Given the description of an element on the screen output the (x, y) to click on. 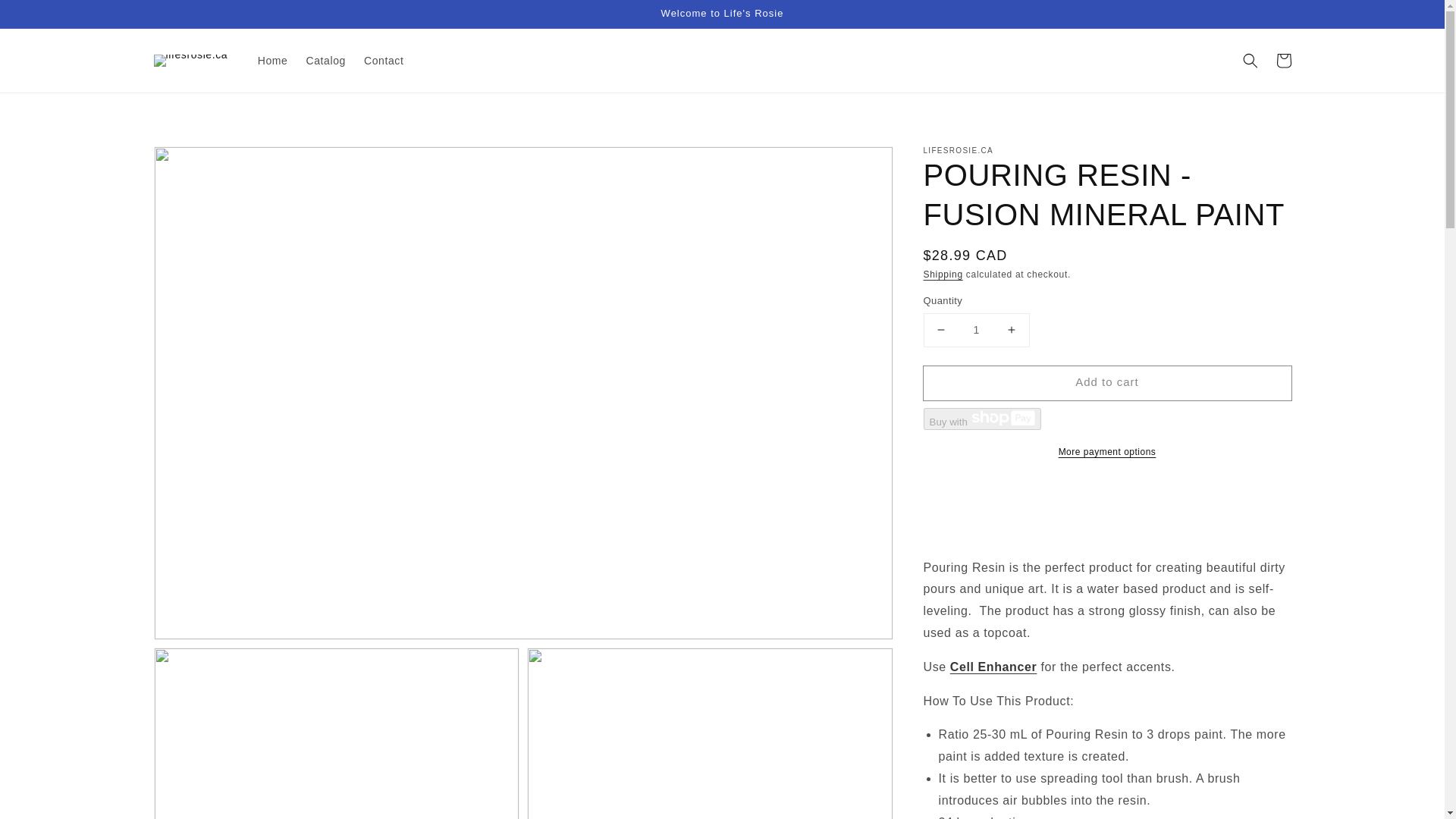
Cell Enhancer (993, 666)
1 (976, 329)
Home (272, 60)
More payment options (1107, 451)
Decrease quantity for POURING RESIN - FUSION MINERAL PAINT (940, 329)
Shipping (942, 274)
Cell Enhancer Link (993, 666)
Skip to product information (198, 162)
Catalog (325, 60)
Cart (1283, 60)
